Given the description of an element on the screen output the (x, y) to click on. 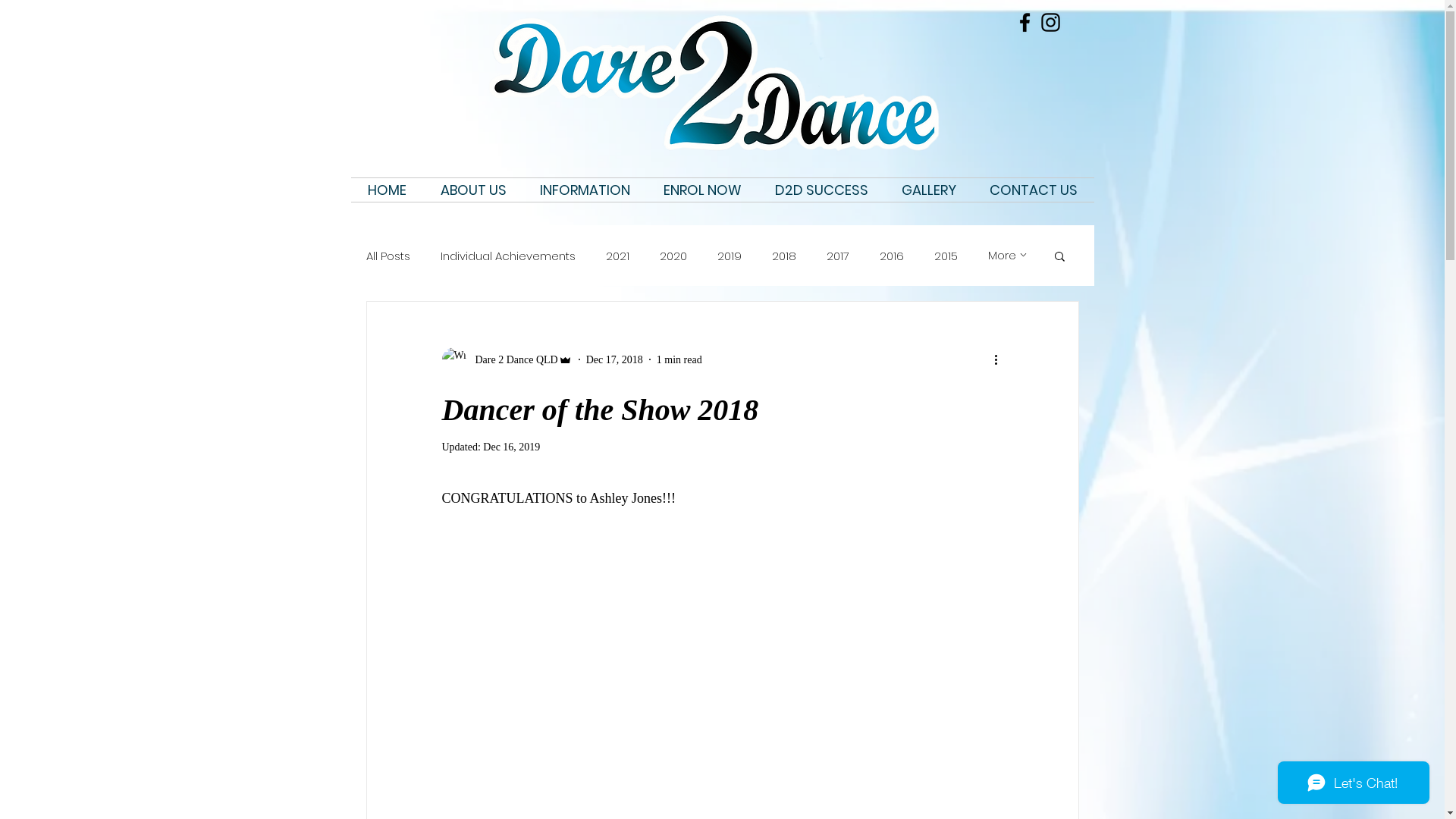
2019 Element type: text (729, 255)
Individual Achievements Element type: text (506, 255)
All Posts Element type: text (387, 255)
ABOUT US Element type: text (472, 189)
D2D SUCCESS Element type: text (821, 189)
CONTACT US Element type: text (1032, 189)
ENROL NOW Element type: text (701, 189)
GALLERY Element type: text (928, 189)
2020 Element type: text (673, 255)
2017 Element type: text (837, 255)
2021 Element type: text (616, 255)
2015 Element type: text (945, 255)
HOME Element type: text (386, 189)
INFORMATION Element type: text (584, 189)
2016 Element type: text (891, 255)
2018 Element type: text (783, 255)
